Given the description of an element on the screen output the (x, y) to click on. 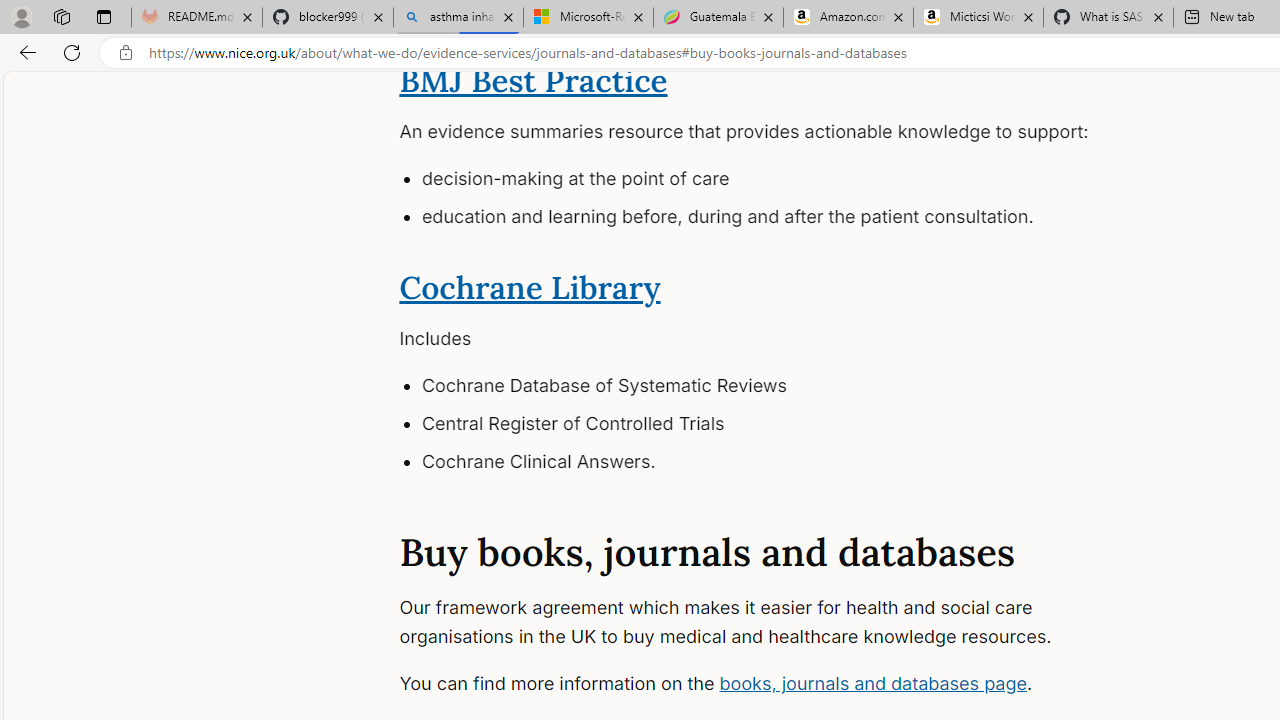
Personal Profile (21, 16)
Workspaces (61, 16)
Microsoft-Report a Concern to Bing (587, 17)
Central Register of Controlled Trials (787, 423)
Cochrane Database of Systematic Reviews (787, 386)
BMJ Best Practice (533, 80)
